Given the description of an element on the screen output the (x, y) to click on. 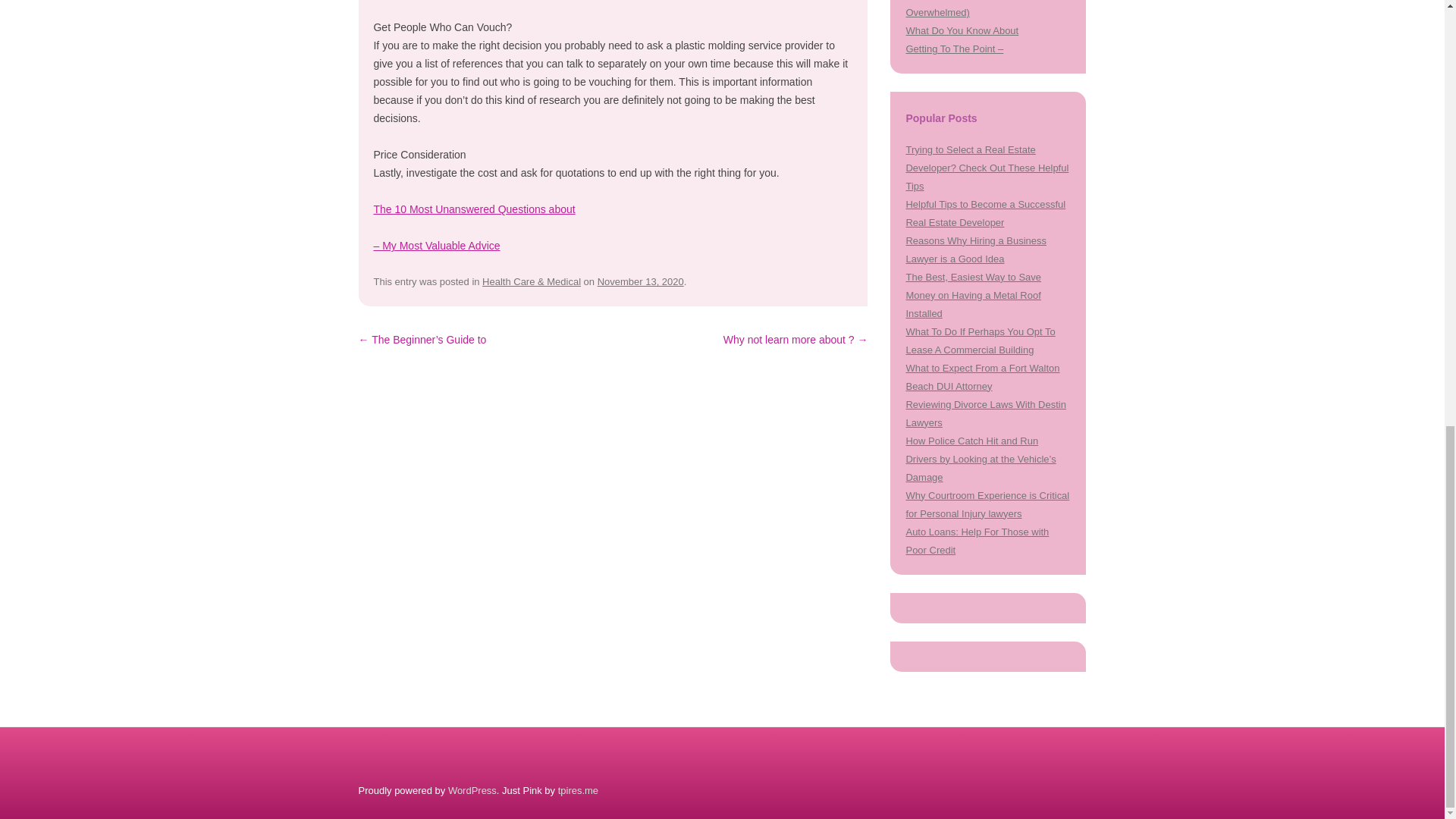
Reviewing Divorce Laws With Destin Lawyers (985, 413)
The 10 Most Unanswered Questions about (473, 209)
Auto Loans: Help For Those with Poor Credit (976, 541)
What To Do If Perhaps You Opt To Lease A Commercial Building (979, 340)
November 13, 2020 (640, 281)
What to Expect From a Fort Walton Beach DUI Attorney (982, 377)
3:13 pm (640, 281)
Reasons Why Hiring a Business Lawyer is a Good Idea (975, 249)
Helpful Tips to Become a Successful Real Estate Developer (985, 213)
